Given the description of an element on the screen output the (x, y) to click on. 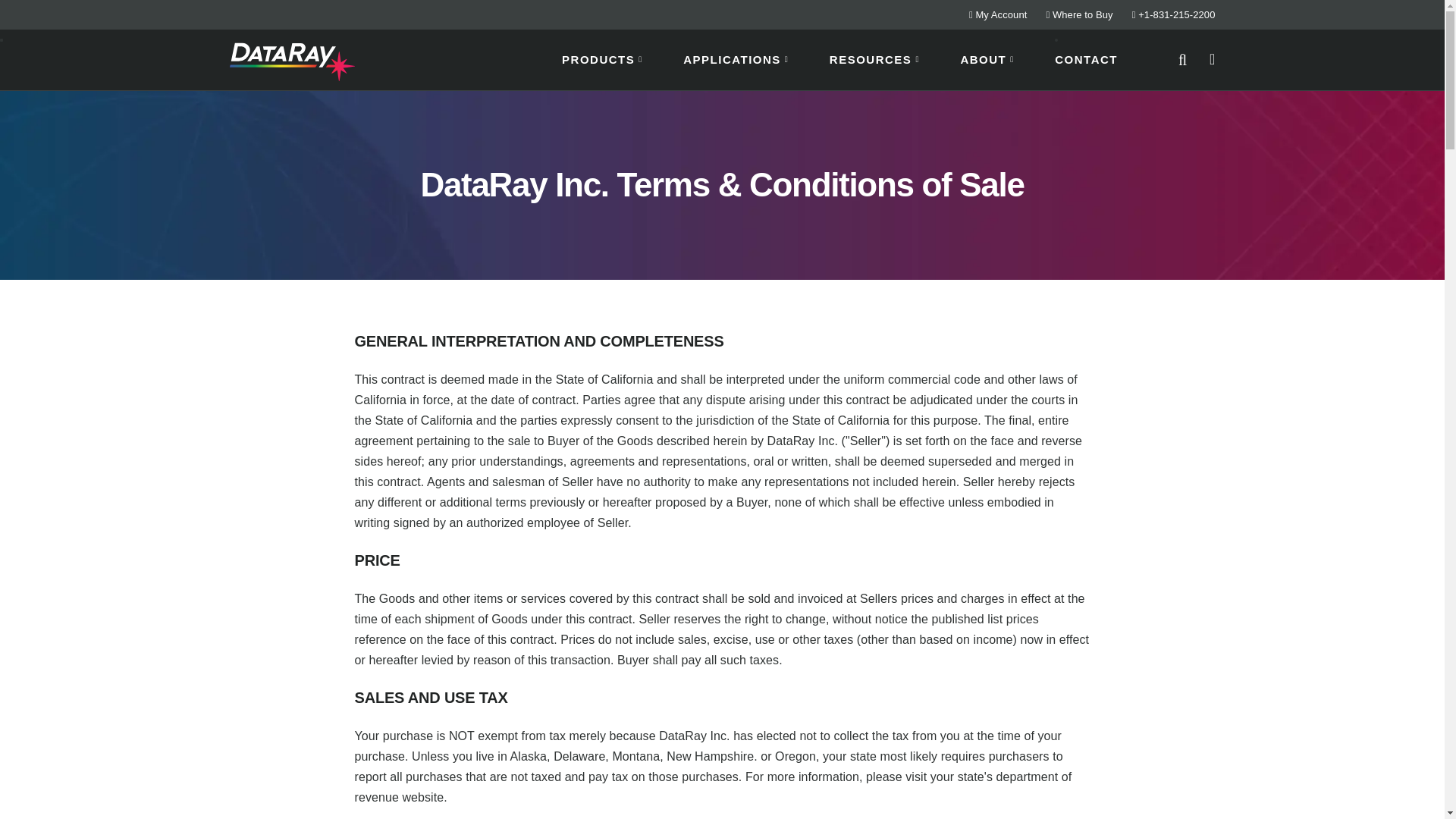
My Account (998, 14)
APPLICATIONS (731, 57)
Where to Buy (1078, 14)
PRODUCTS (598, 57)
